Given the description of an element on the screen output the (x, y) to click on. 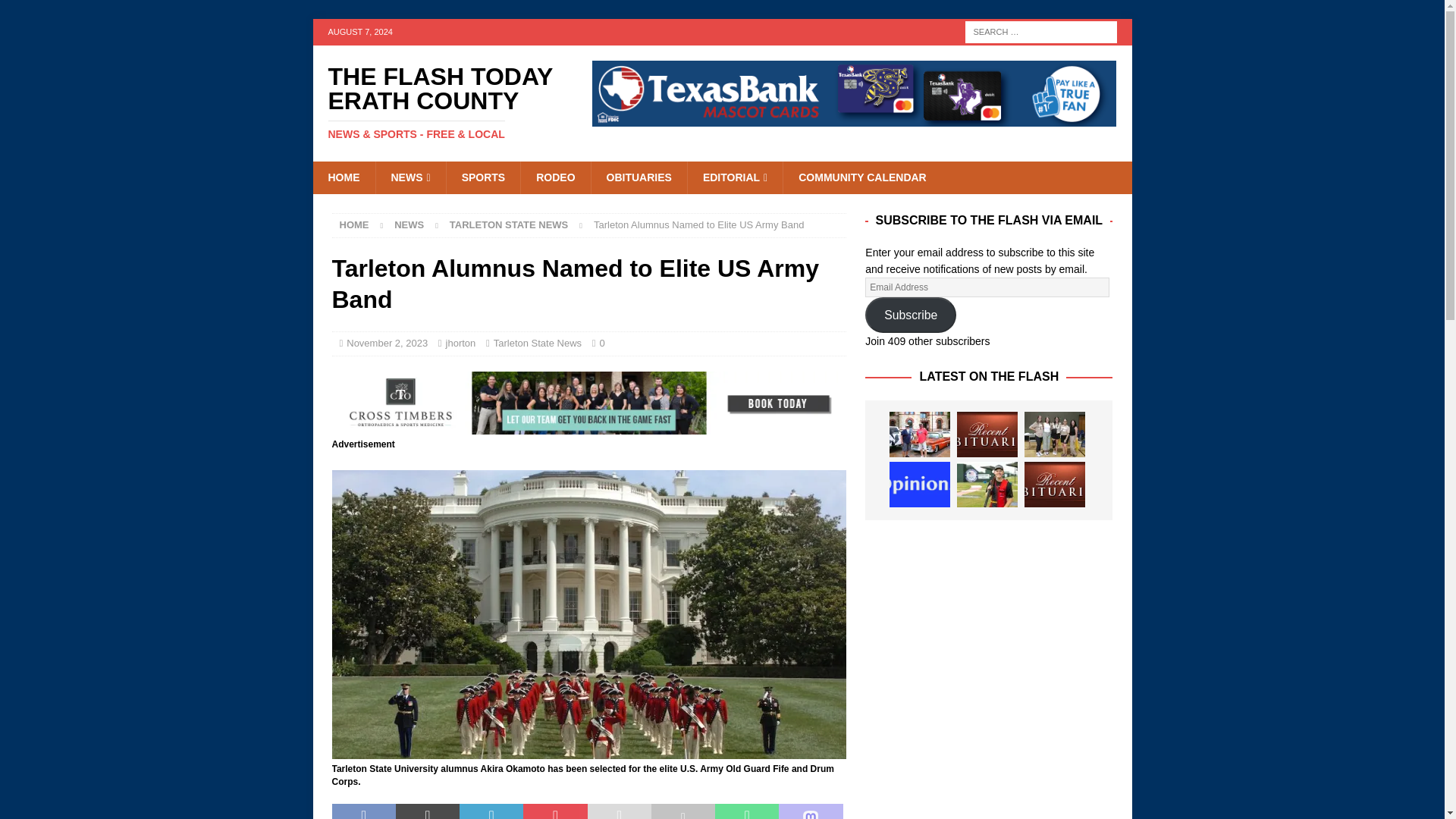
Pin This Post (554, 811)
RODEO (554, 177)
whitehouse-1 (588, 750)
NEWS (408, 224)
Tarleton State News (536, 342)
Tarleton State News (508, 224)
jhorton (460, 342)
Search (56, 11)
The Flash Today Erath County (441, 102)
EDITORIAL (735, 177)
